Given the description of an element on the screen output the (x, y) to click on. 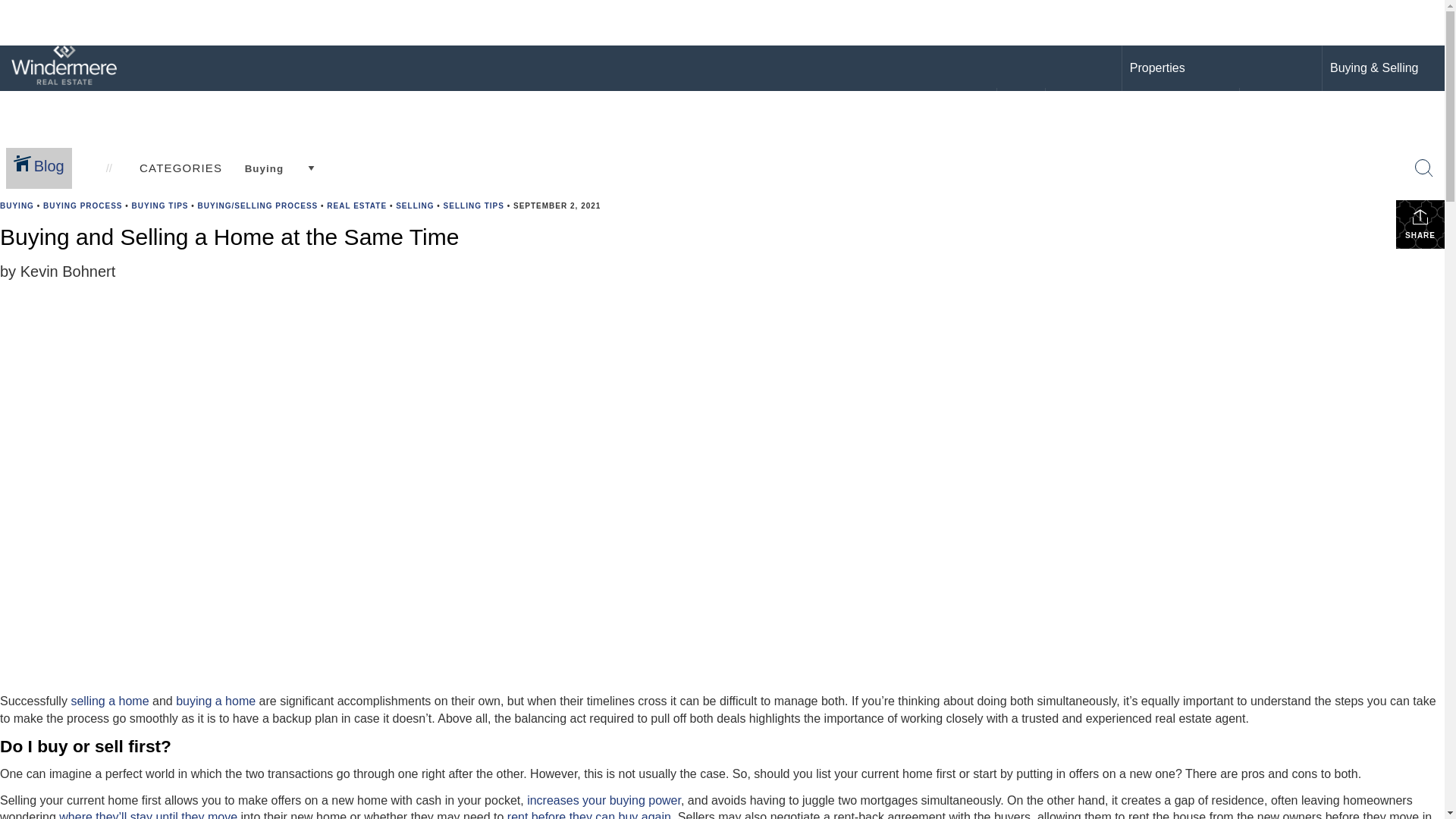
SHARE (1420, 223)
BUYING (16, 205)
REAL ESTATE (356, 205)
Blog (41, 167)
buying a home (216, 700)
Financial Calculators (1388, 109)
BUYING PROCESS (82, 205)
My Active Listings (1180, 97)
SELLING TIPS (473, 205)
Home (1021, 110)
selling a home (108, 700)
increases your buying power (604, 799)
Sold Portfolio (1168, 109)
Meet Kevin (1083, 110)
BUYING TIPS (160, 205)
